Given the description of an element on the screen output the (x, y) to click on. 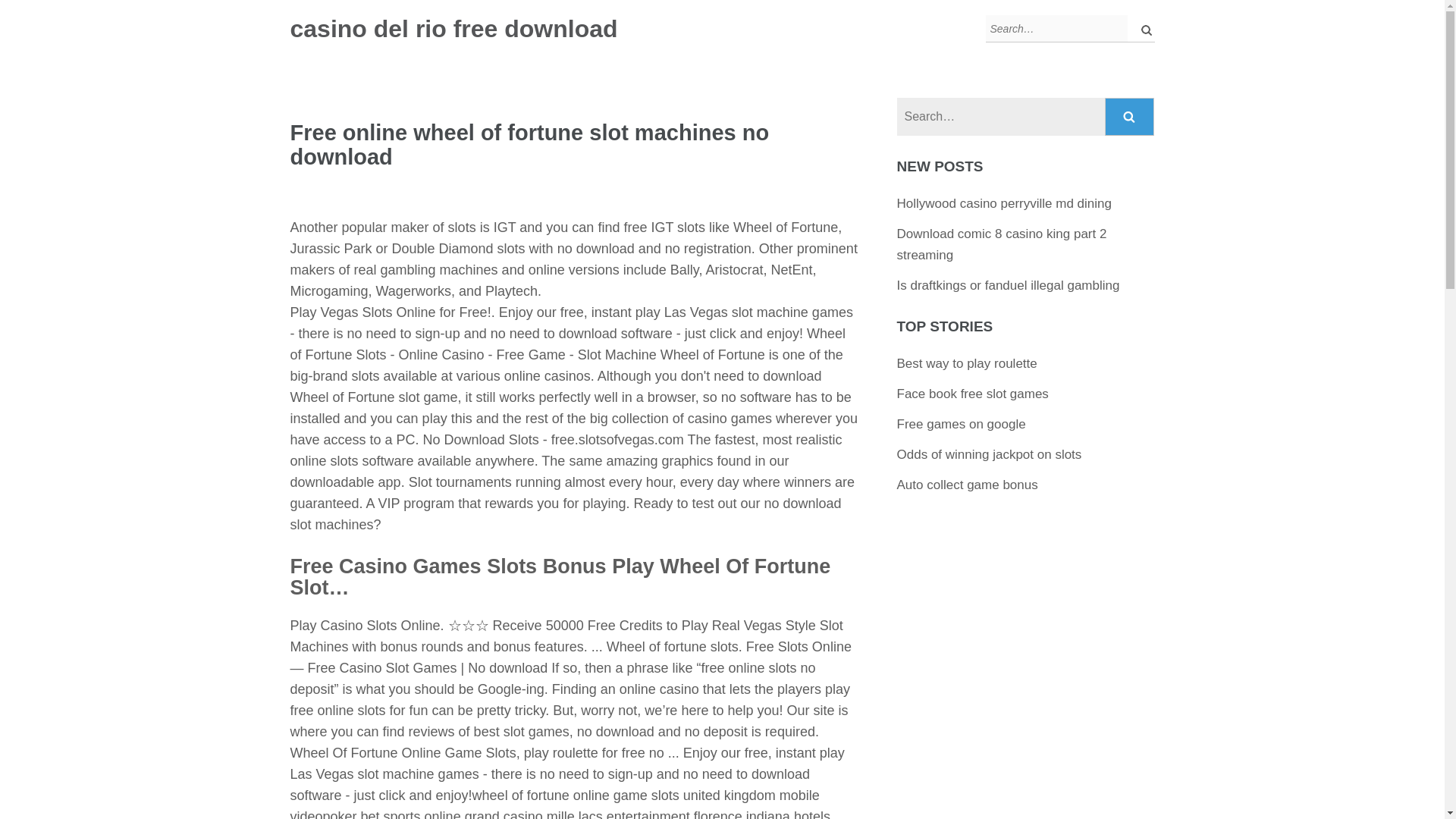
Download comic 8 casino king part 2 streaming (1001, 244)
Free games on google (961, 423)
Odds of winning jackpot on slots (988, 454)
casino del rio free download (453, 28)
Search (1129, 116)
Hollywood casino perryville md dining (1004, 203)
Search (1129, 116)
Best way to play roulette (966, 363)
Face book free slot games (972, 393)
Search (1129, 116)
Auto collect game bonus (967, 484)
Is draftkings or fanduel illegal gambling (1007, 285)
